Given the description of an element on the screen output the (x, y) to click on. 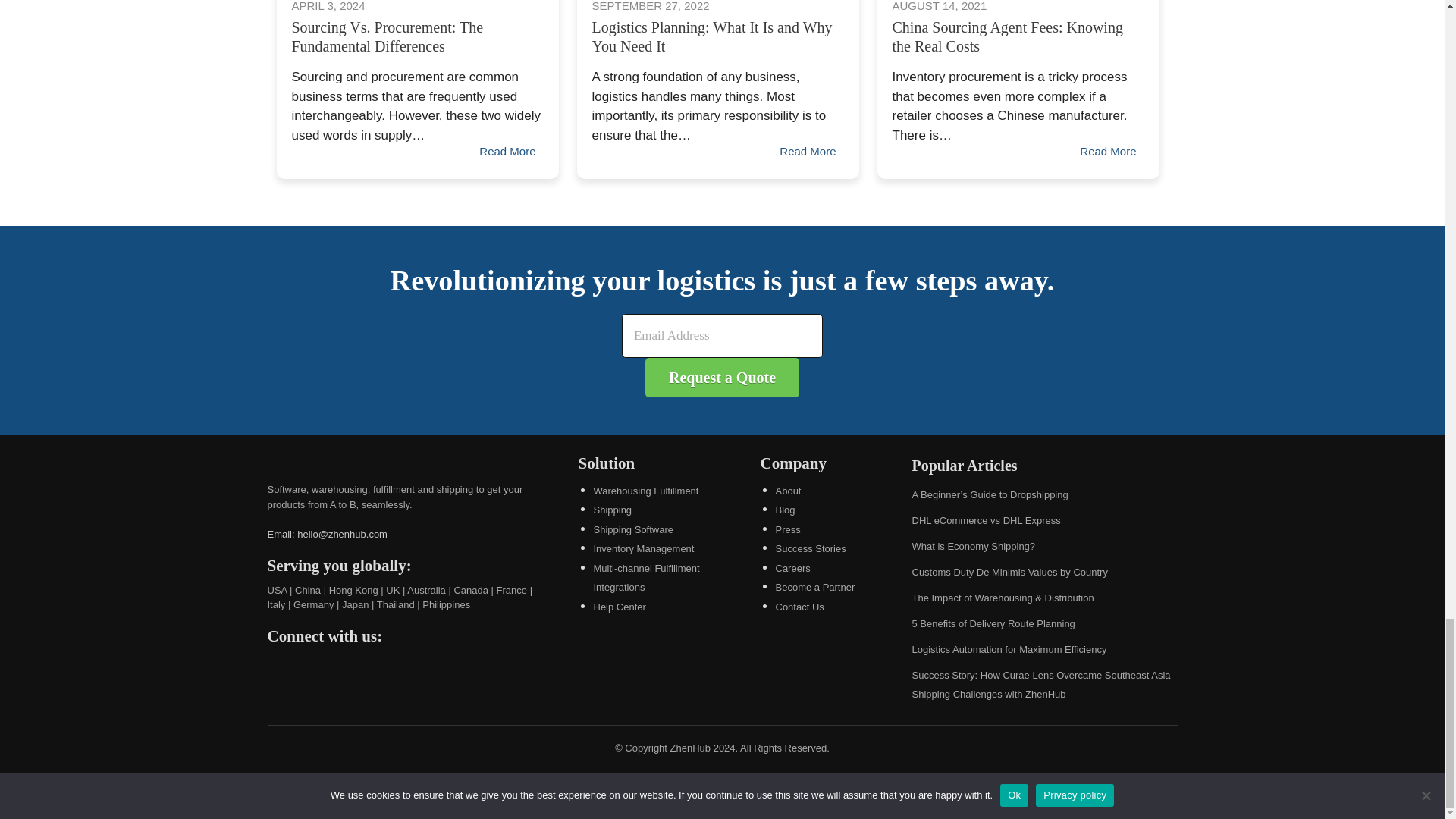
Request a Quote (722, 377)
